Given the description of an element on the screen output the (x, y) to click on. 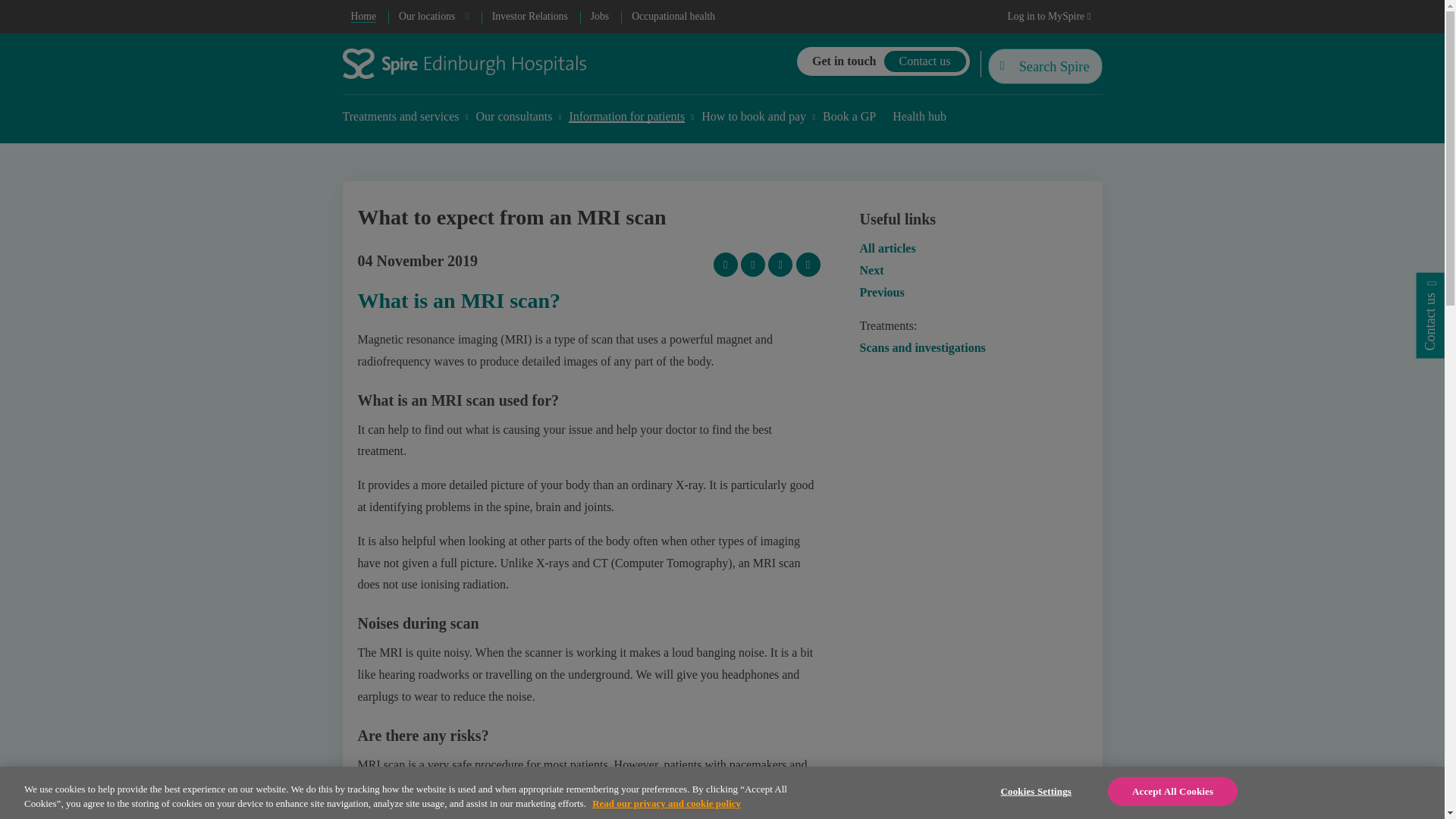
Jobs (599, 16)
Our locations (433, 16)
Occupational health (673, 16)
Home (363, 16)
Log in to MySpire (1048, 16)
Investor Relations (529, 16)
